Given the description of an element on the screen output the (x, y) to click on. 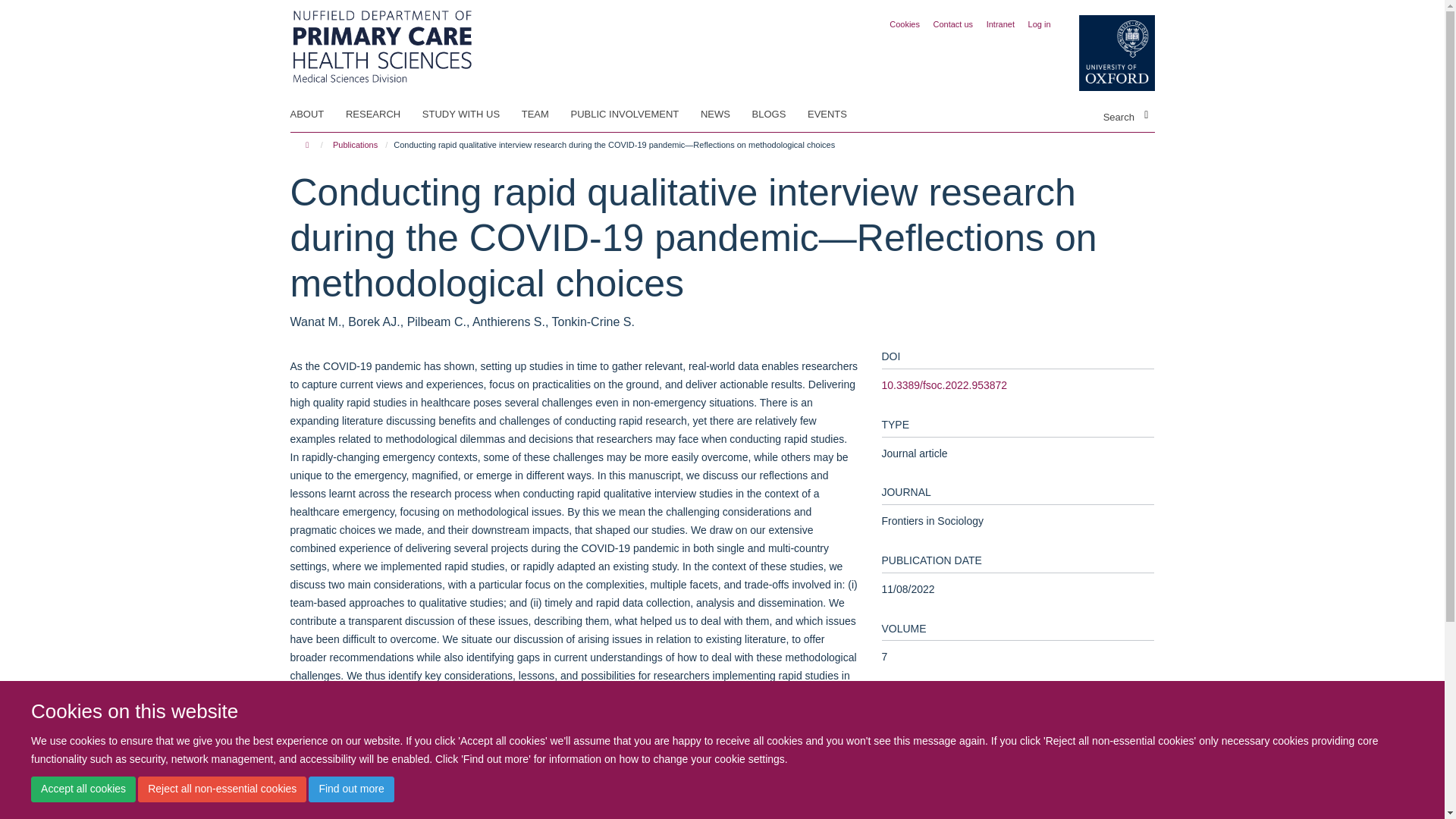
Log in (1039, 23)
Find out more (350, 789)
Accept all cookies (82, 789)
Reject all non-essential cookies (221, 789)
Intranet (1000, 23)
Cookies (904, 23)
Contact us (953, 23)
